Given the description of an element on the screen output the (x, y) to click on. 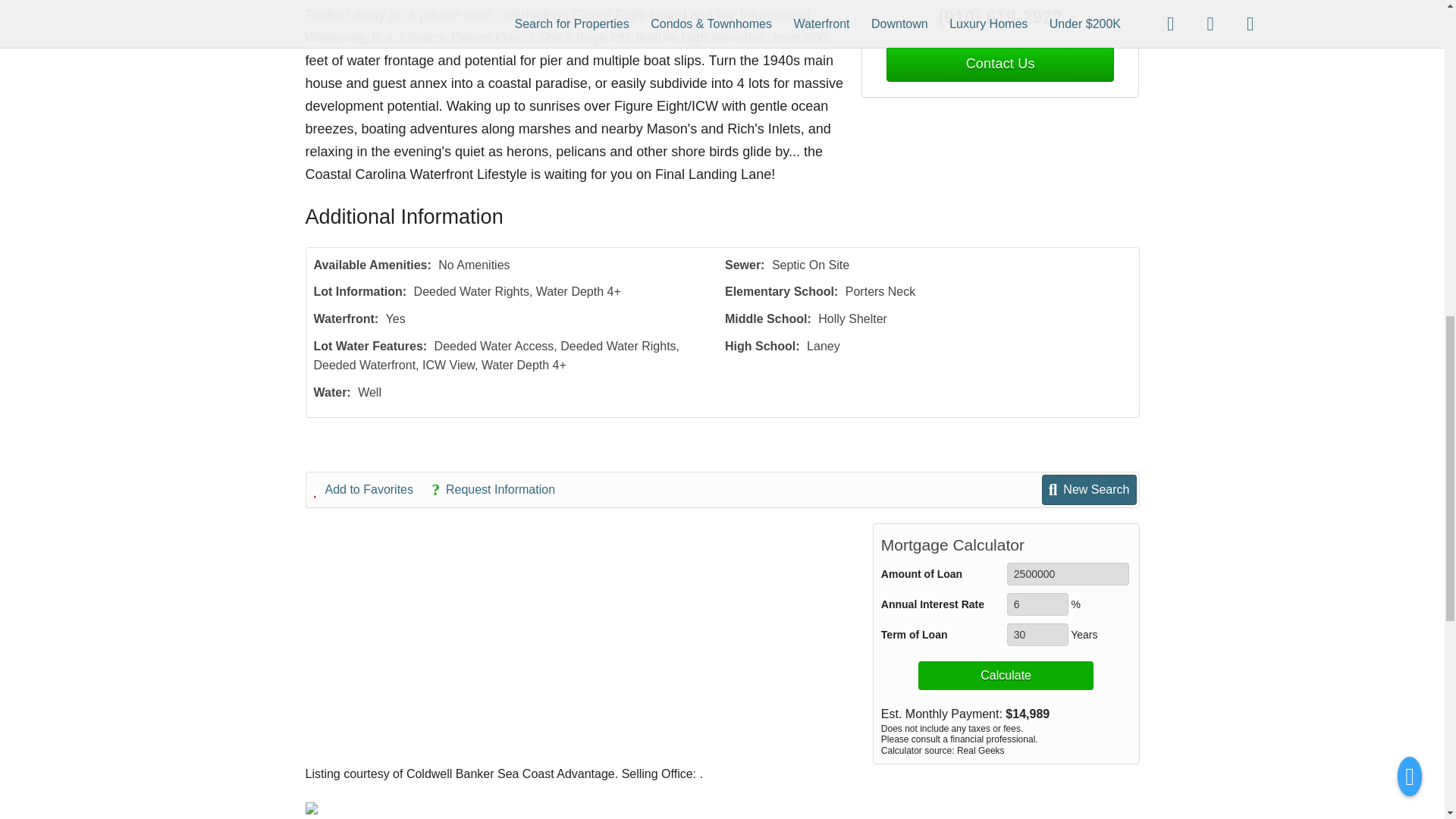
30 (1037, 634)
2500000 (1068, 573)
6 (1037, 603)
Contact Us (999, 63)
